Given the description of an element on the screen output the (x, y) to click on. 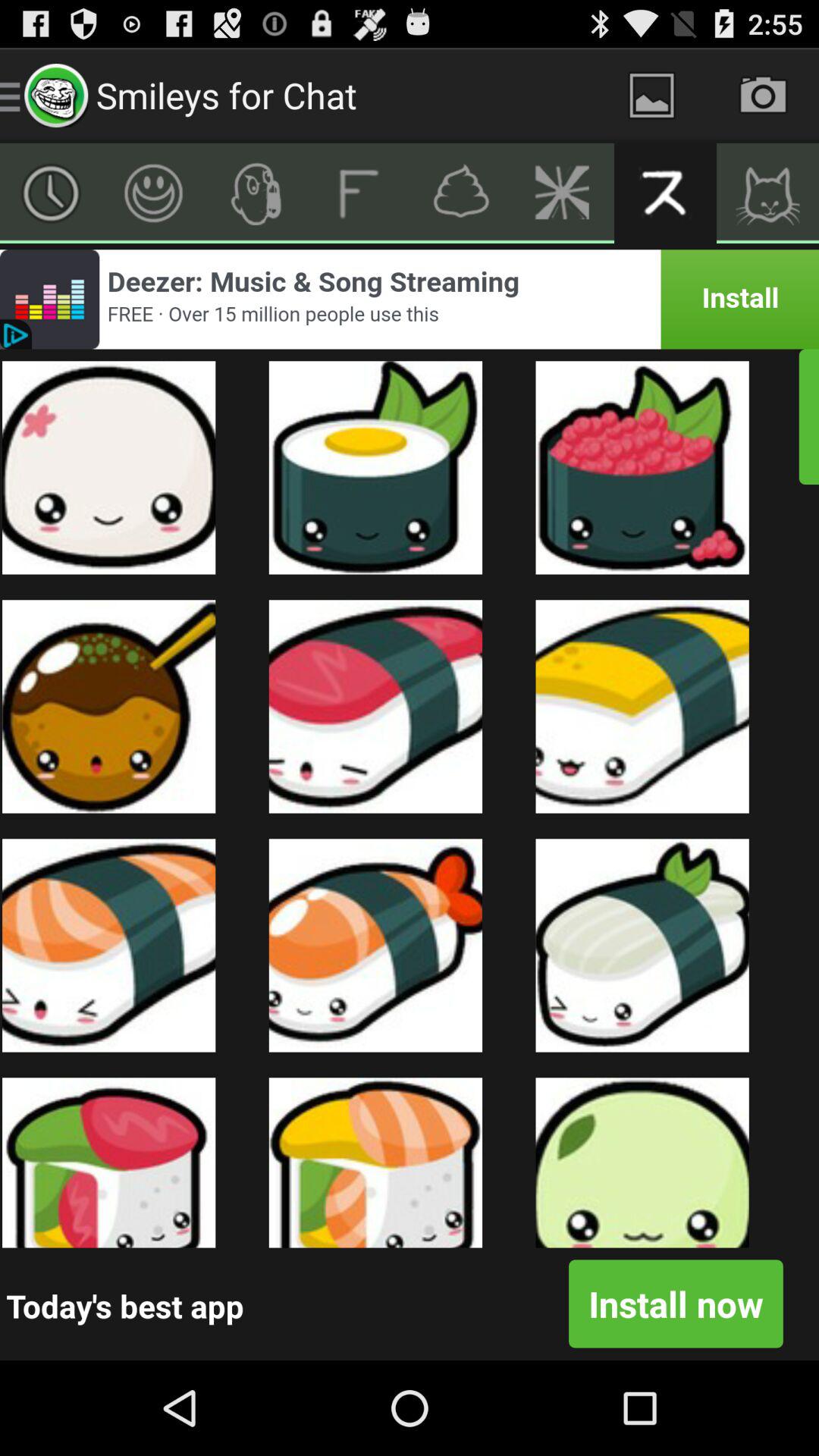
open camera (763, 95)
